Given the description of an element on the screen output the (x, y) to click on. 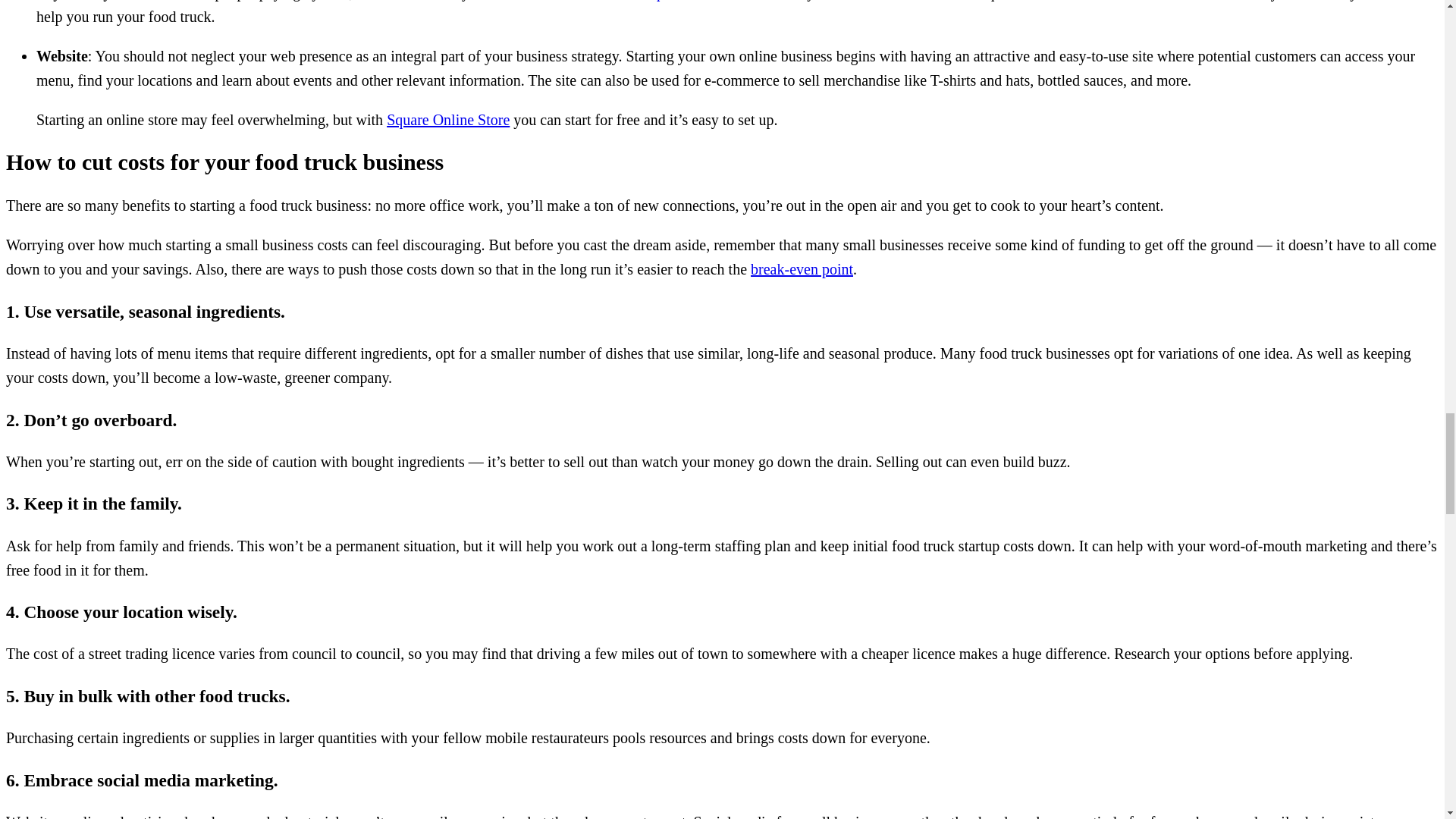
card reader (564, 0)
break-even point (802, 269)
Square Online Store (448, 119)
